Given the description of an element on the screen output the (x, y) to click on. 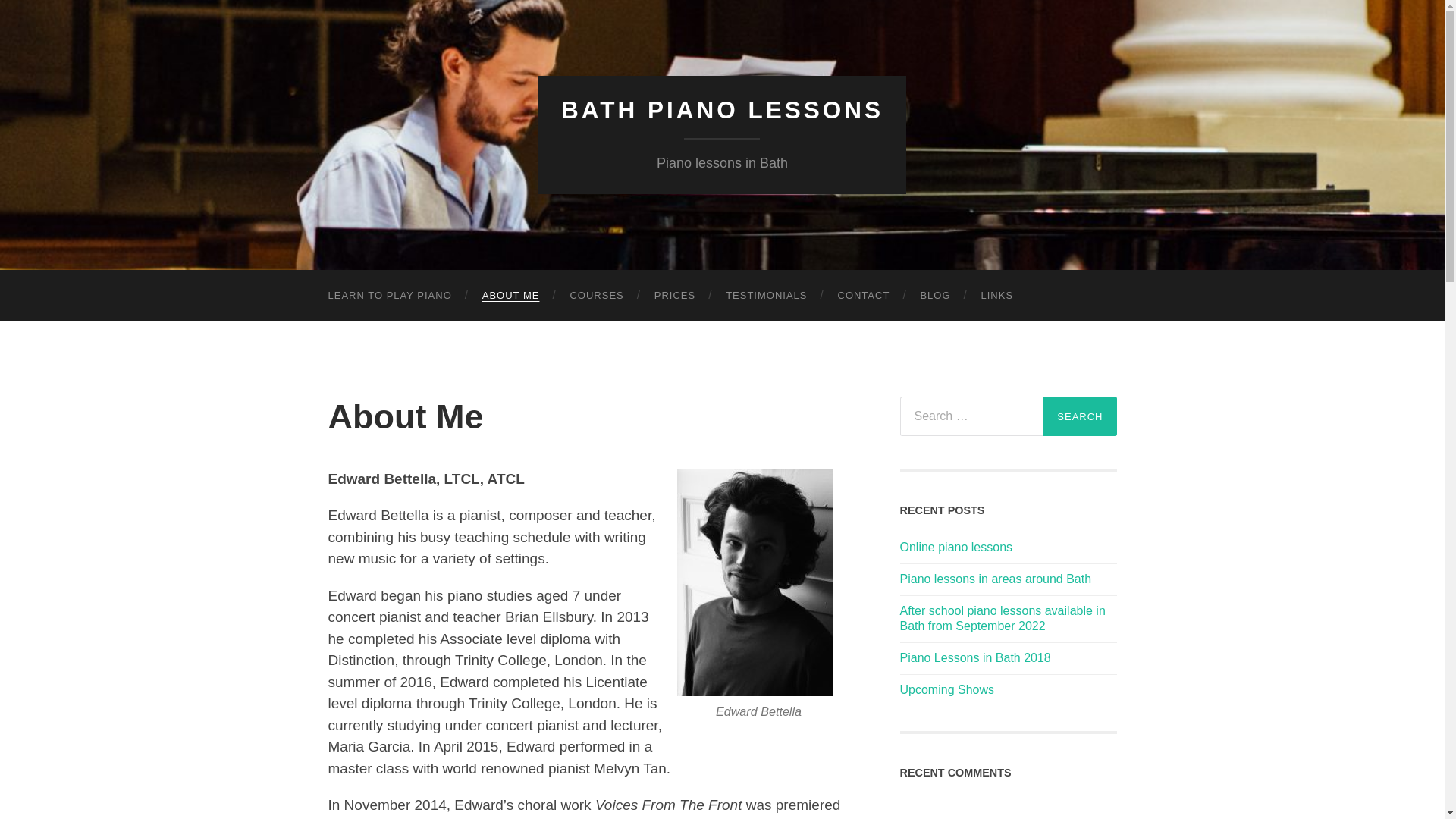
Search (1079, 415)
Online piano lessons (1007, 547)
Search (1079, 415)
BATH PIANO LESSONS (721, 109)
PRICES (674, 295)
Search (1079, 415)
BLOG (934, 295)
LINKS (997, 295)
LEARN TO PLAY PIANO (389, 295)
Piano lessons in areas around Bath (1007, 579)
Upcoming Shows (1007, 690)
Piano Lessons in Bath 2018 (1007, 658)
ABOUT ME (510, 295)
CONTACT (863, 295)
